Given the description of an element on the screen output the (x, y) to click on. 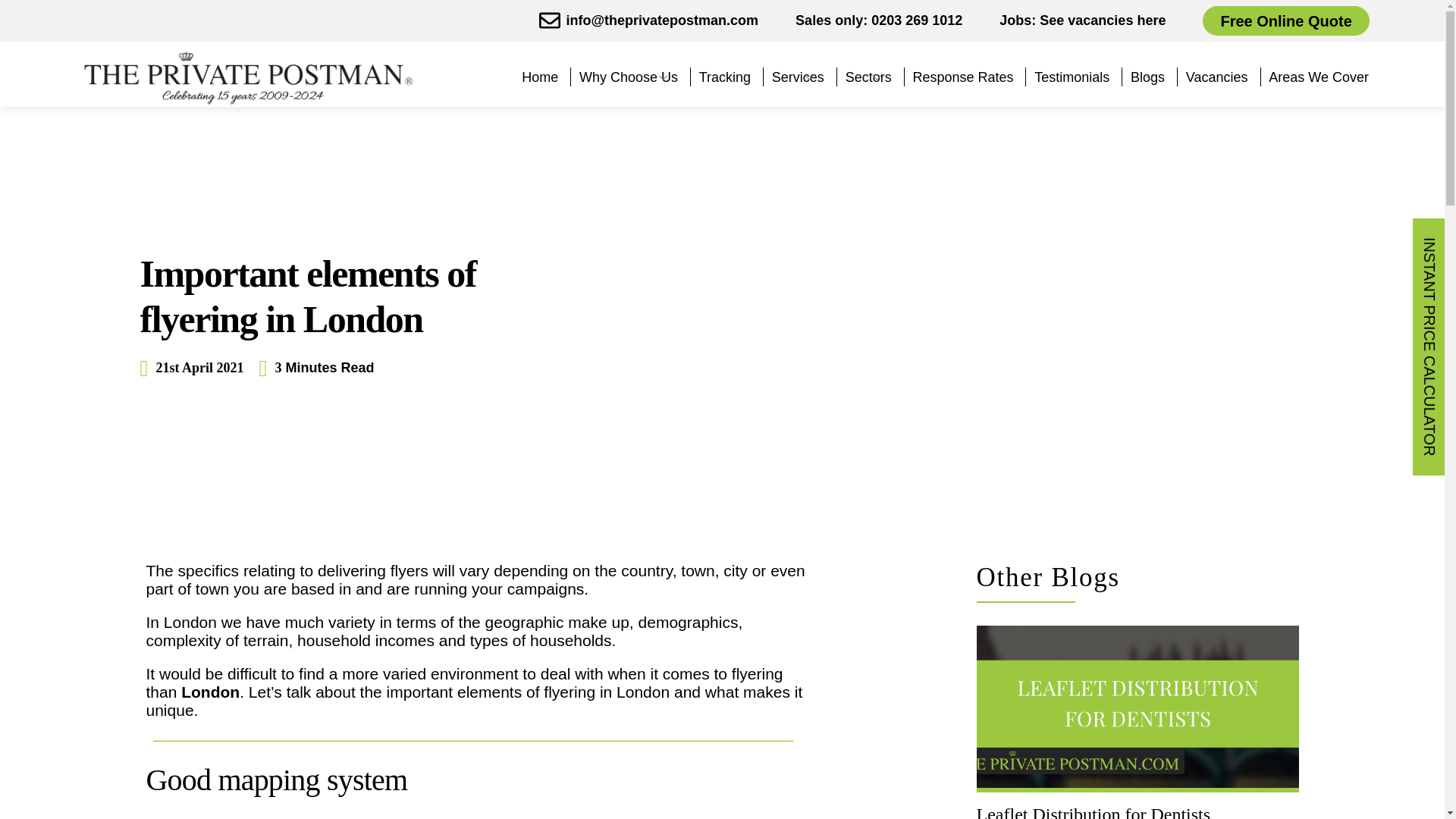
Services (797, 77)
Home (539, 77)
Why Choose Us (628, 77)
The Private Postman - Celebrating 15 Years 2009 - 2024 (247, 77)
Tracking (724, 77)
Sales only: 0203 269 1012 (878, 20)
Jobs: See vacancies here (1082, 20)
Free Online Quote (1285, 20)
